Given the description of an element on the screen output the (x, y) to click on. 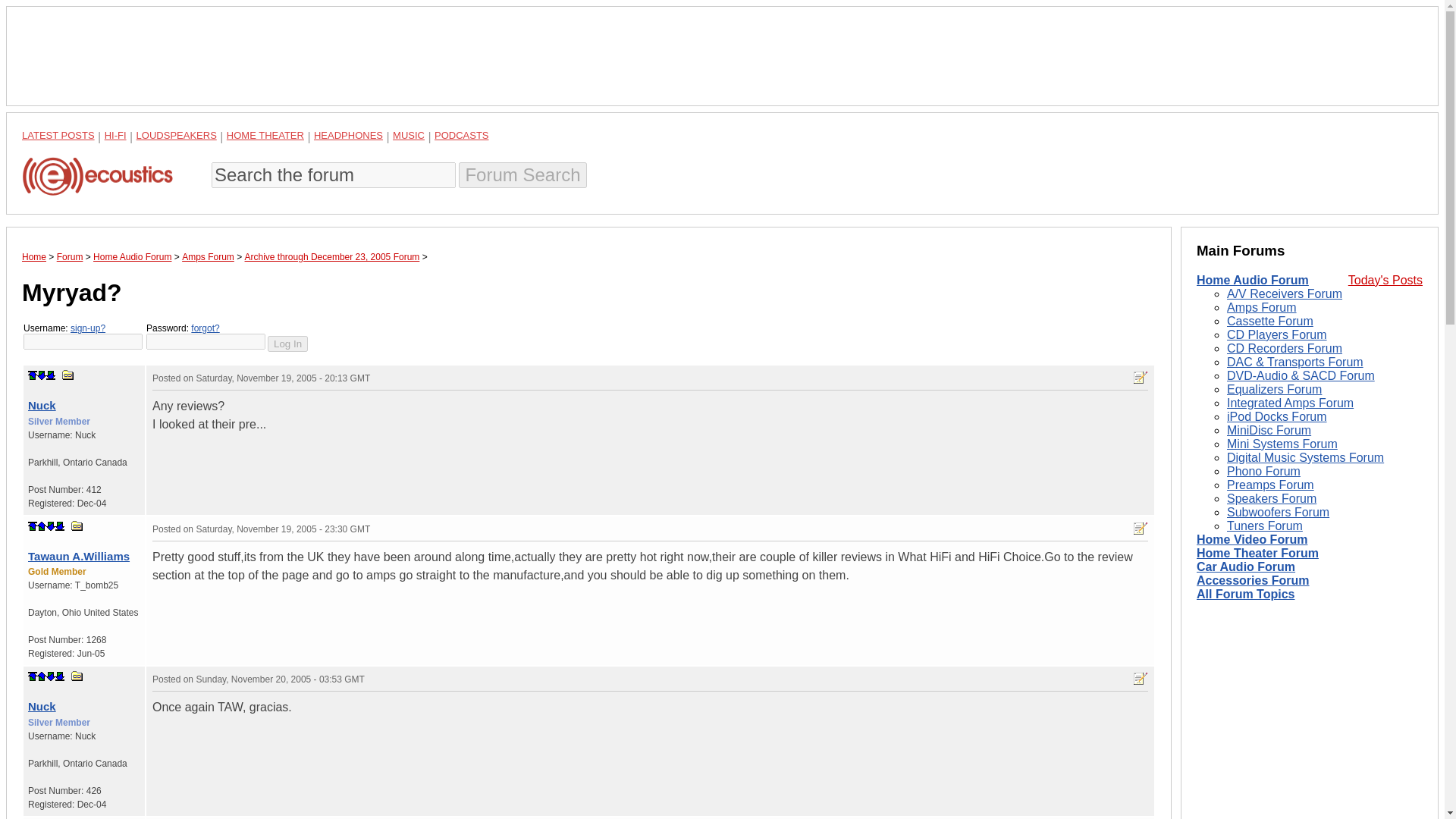
Search (522, 175)
HEADPHONES (348, 134)
Forgot your password? (204, 327)
LATEST POSTS (57, 134)
Search the forum (333, 175)
previous post (41, 525)
Edit Post (1140, 377)
link to this post (76, 525)
last post (59, 675)
top of page (32, 675)
